Given the description of an element on the screen output the (x, y) to click on. 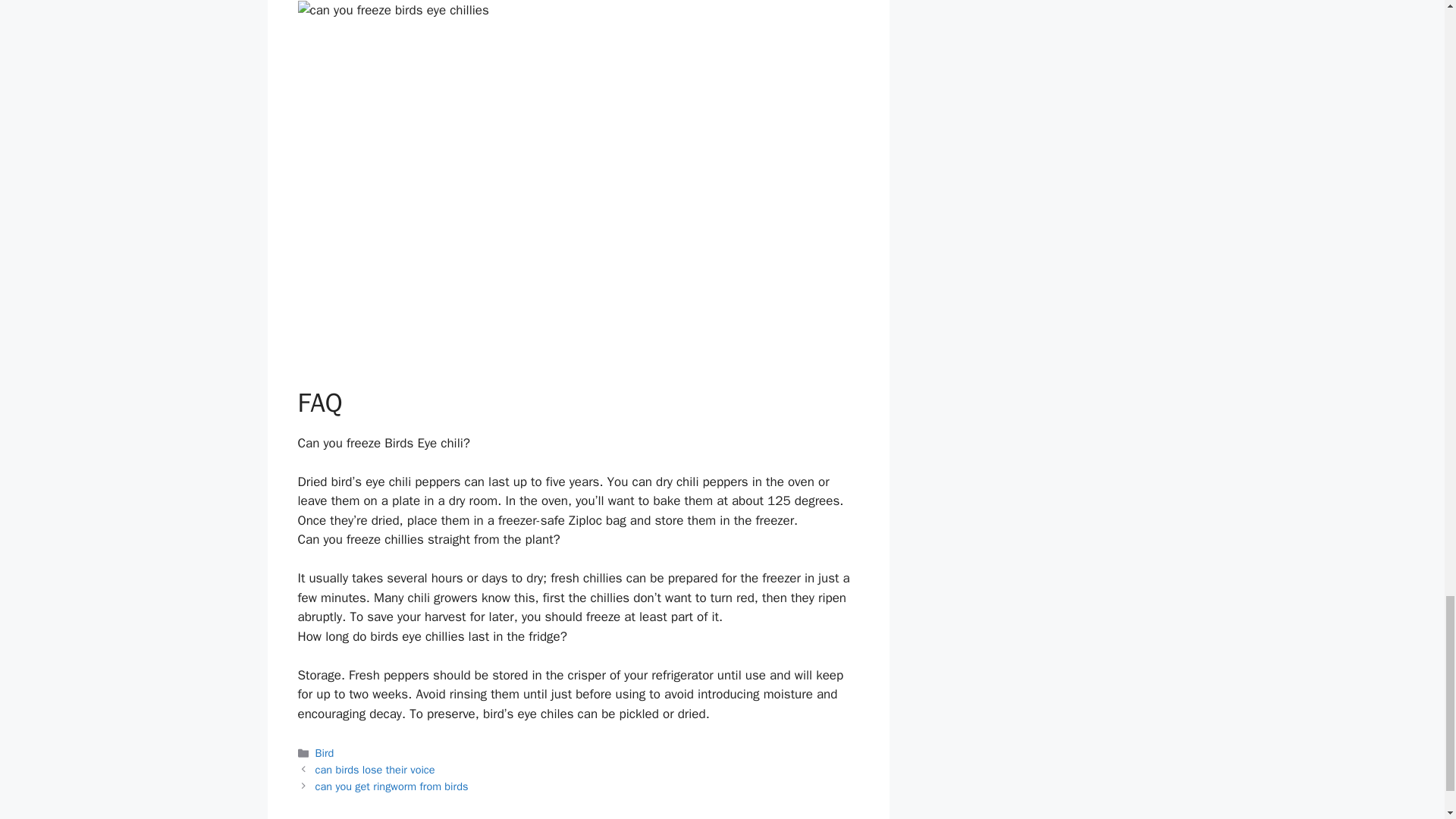
can you get ringworm from birds (391, 786)
Bird (324, 753)
can birds lose their voice (375, 769)
